Given the description of an element on the screen output the (x, y) to click on. 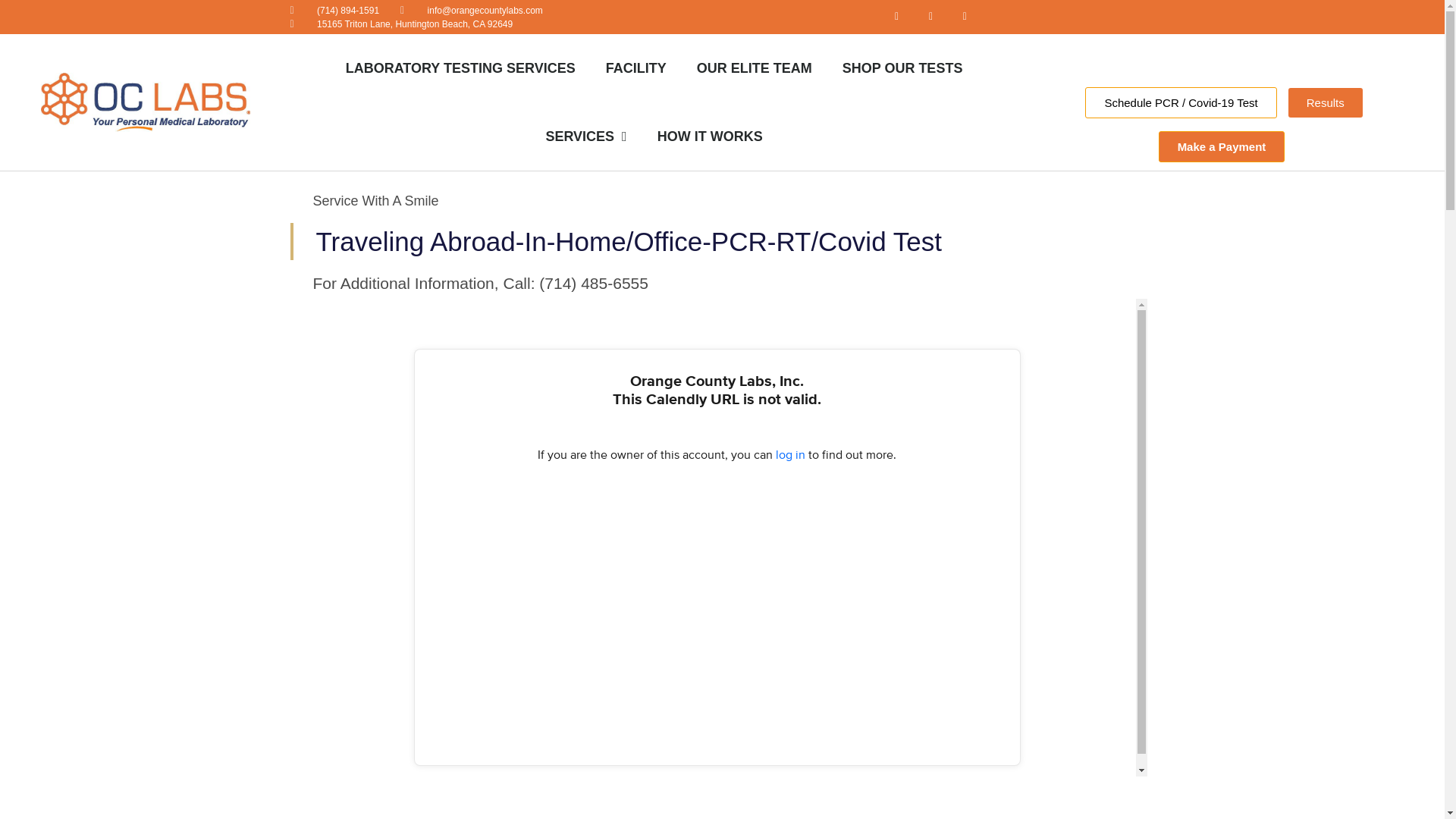
OUR ELITE TEAM (754, 68)
SHOP OUR TESTS (902, 68)
Results (1325, 102)
Make a Payment (1221, 145)
15165 Triton Lane, Huntington Beach, CA 92649 (400, 23)
HOW IT WORKS (709, 136)
FACILITY (636, 68)
LABORATORY TESTING SERVICES (460, 68)
SERVICES (585, 136)
